Given the description of an element on the screen output the (x, y) to click on. 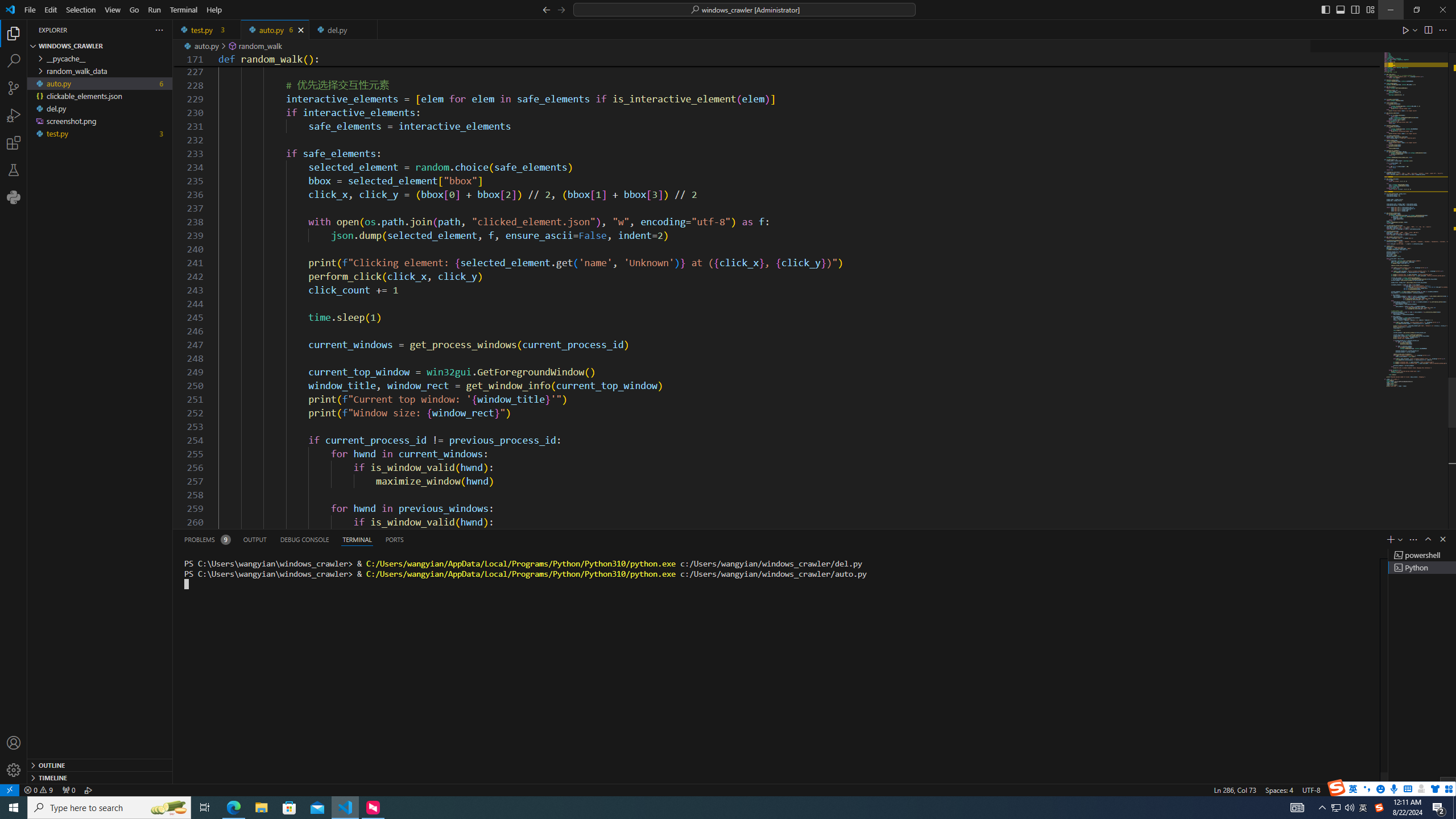
Toggle Panel (Ctrl+J) (1339, 9)
Ports actions (917, 539)
Source Control (Ctrl+Shift+G) (13, 87)
UTF-8 (1310, 789)
Go Forward (Alt+RightArrow) (560, 9)
Warnings: 9 (37, 789)
No Ports Forwarded (68, 789)
Extensions (Ctrl+Shift+X) (13, 142)
Maximize Panel Size (1428, 539)
Selection (80, 9)
